Given the description of an element on the screen output the (x, y) to click on. 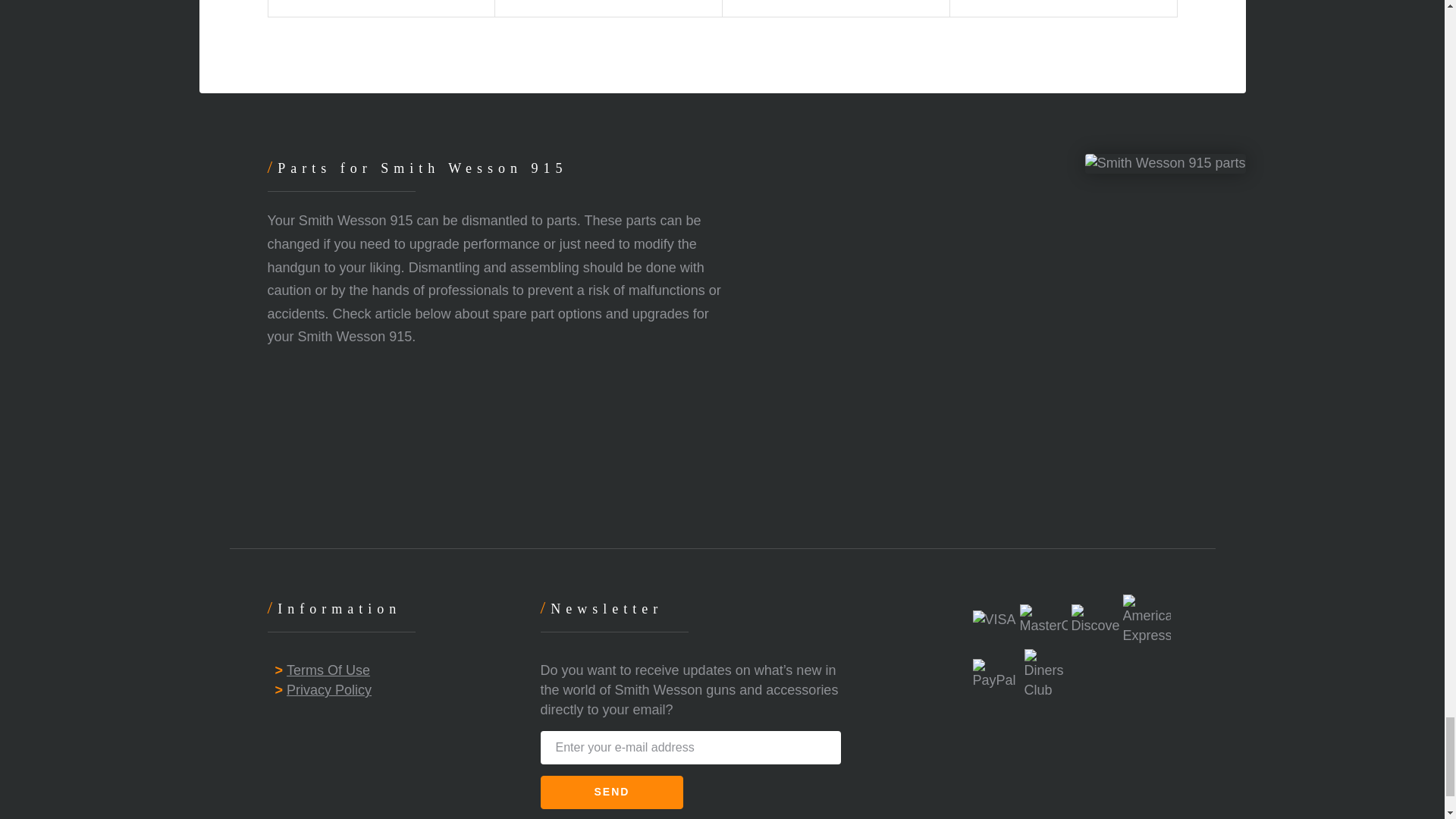
Smith Wesson 915 parts (1165, 163)
MasterCard (1043, 620)
VISA (993, 619)
Cleaning (381, 8)
Diners Club (1048, 674)
PayPal (996, 675)
Discover (1095, 620)
Lights (608, 8)
American Express (1146, 619)
